Given the description of an element on the screen output the (x, y) to click on. 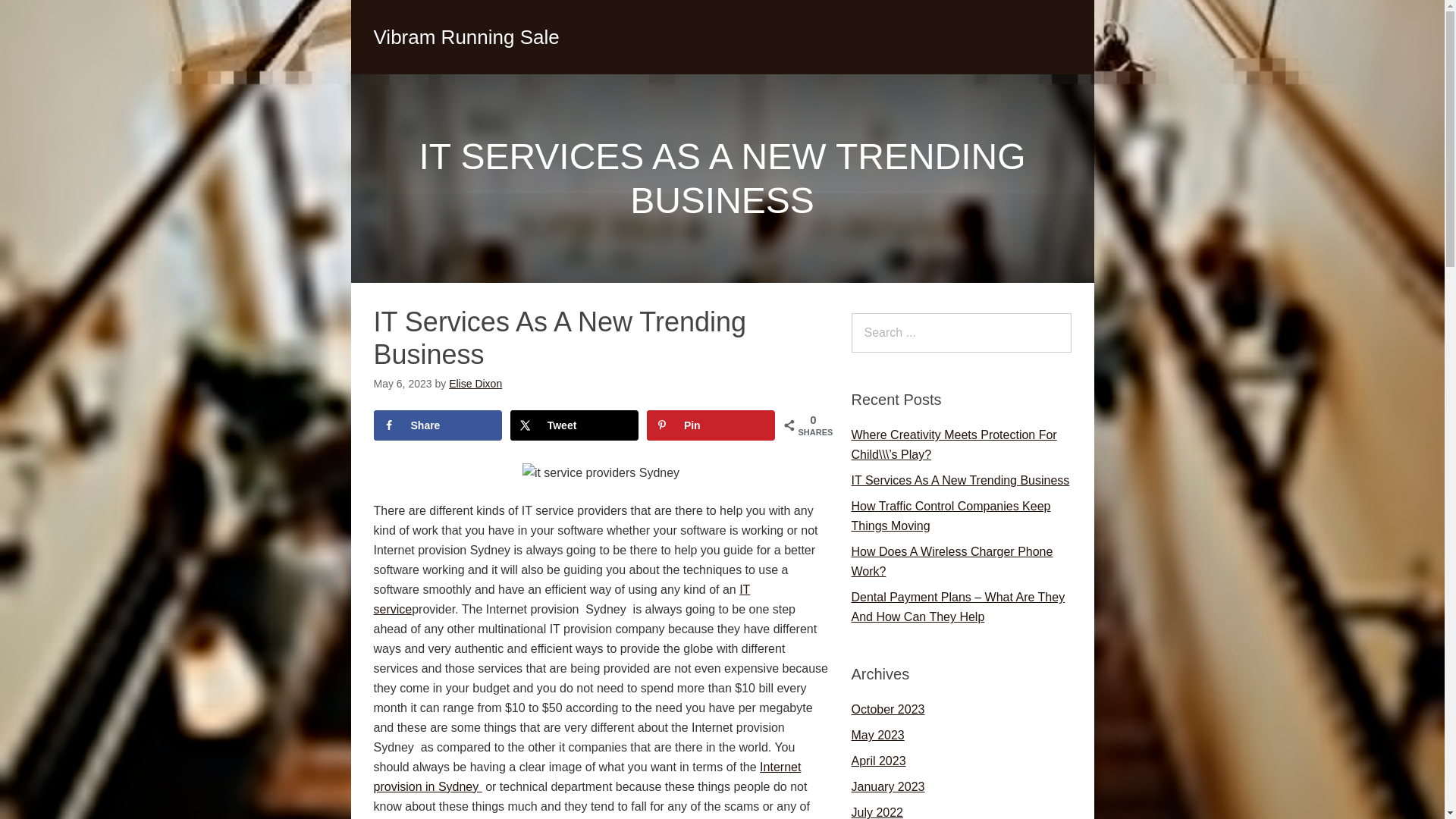
Tweet (575, 425)
January 2023 (887, 786)
Share on Facebook (437, 425)
IT service (560, 598)
IT Services As A New Trending Business (959, 480)
July 2022 (876, 812)
Internet provision in Sydney (586, 776)
October 2023 (887, 708)
Internet provision in Sydney (586, 776)
it service providers Sydney (600, 472)
May 2023 (877, 735)
Saturday, May 6, 2023, 6:21 am (401, 383)
Share on X (575, 425)
Share (437, 425)
